Given the description of an element on the screen output the (x, y) to click on. 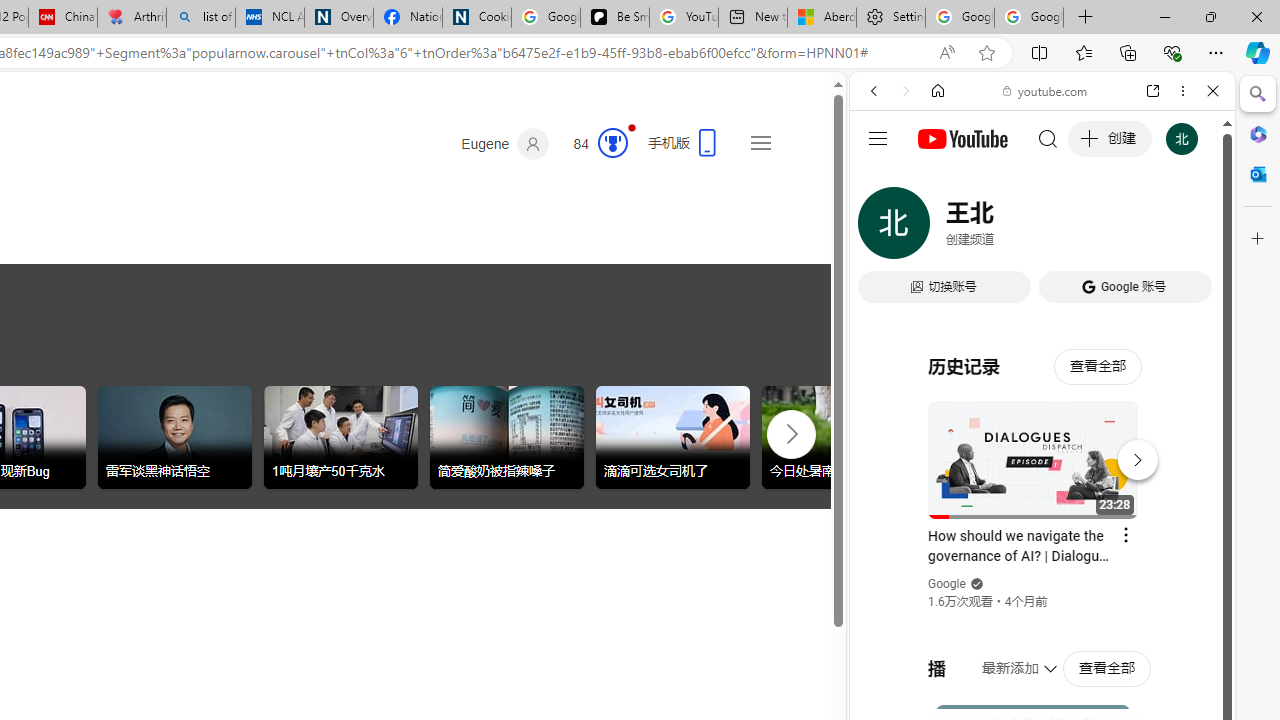
Music (1042, 543)
Class: b_serphb (1190, 229)
Arthritis: Ask Health Professionals (132, 17)
Cookies (476, 17)
